Given the description of an element on the screen output the (x, y) to click on. 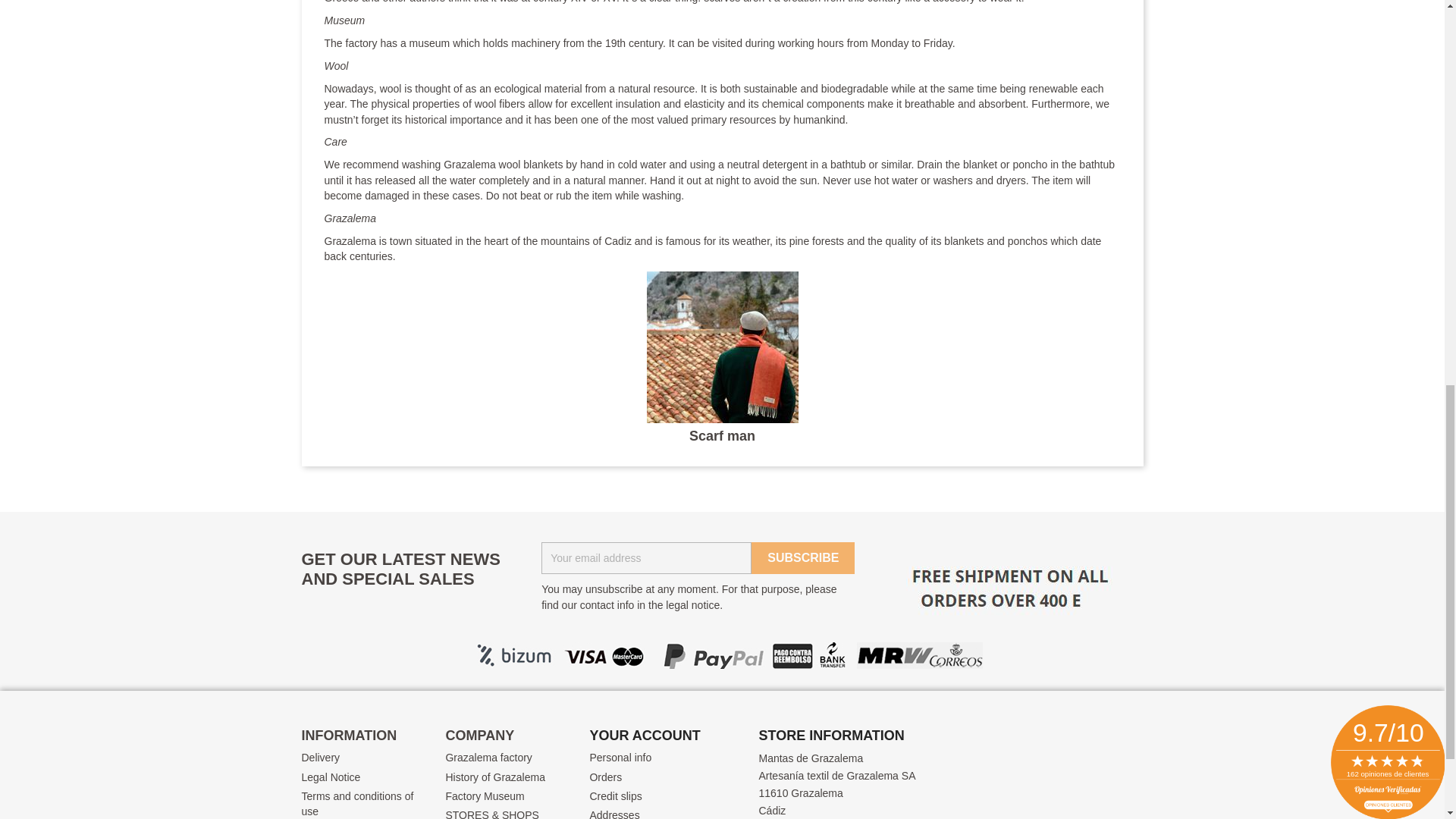
Subscribe (802, 558)
